Given the description of an element on the screen output the (x, y) to click on. 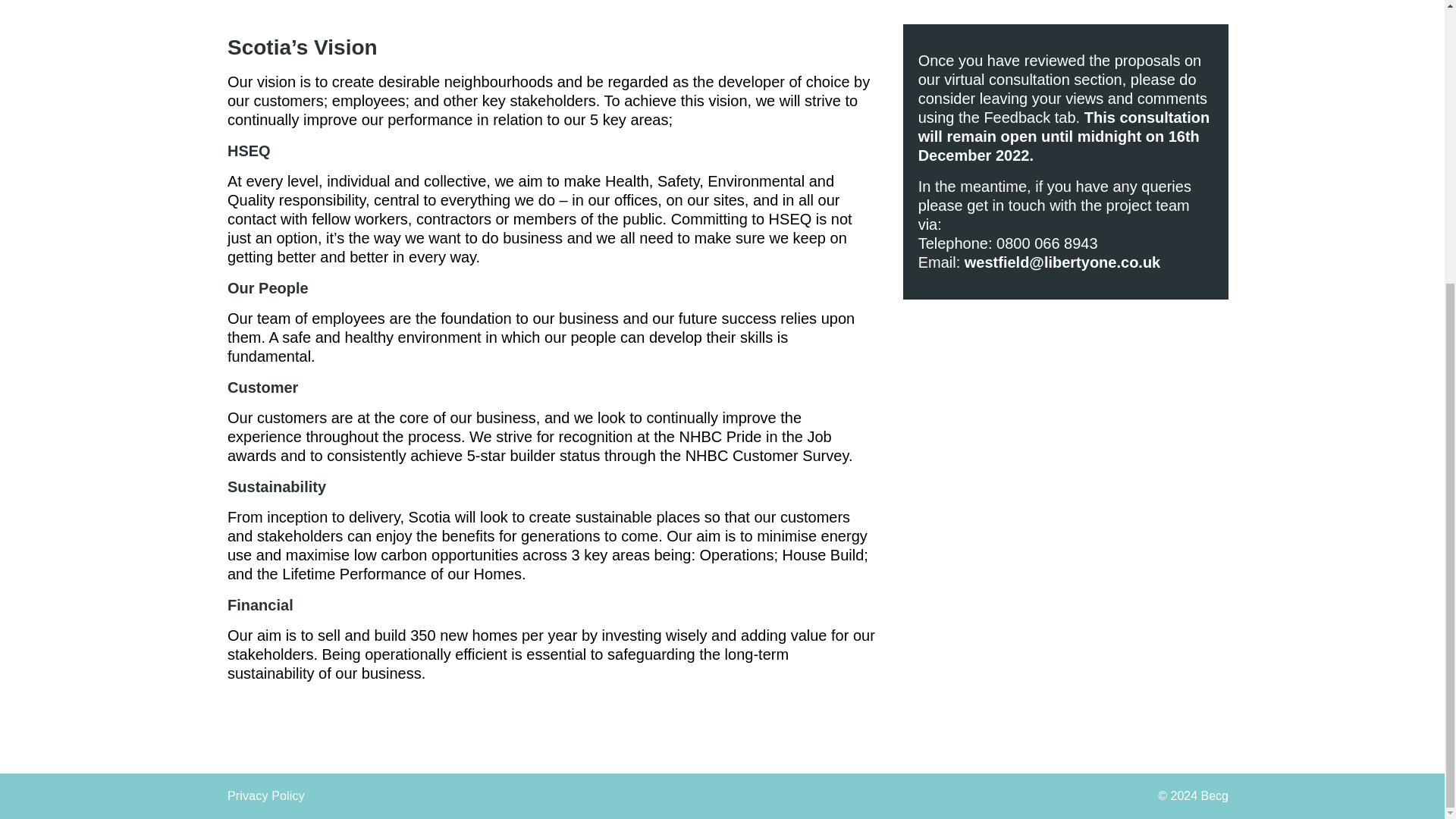
Privacy Policy (265, 795)
